Given the description of an element on the screen output the (x, y) to click on. 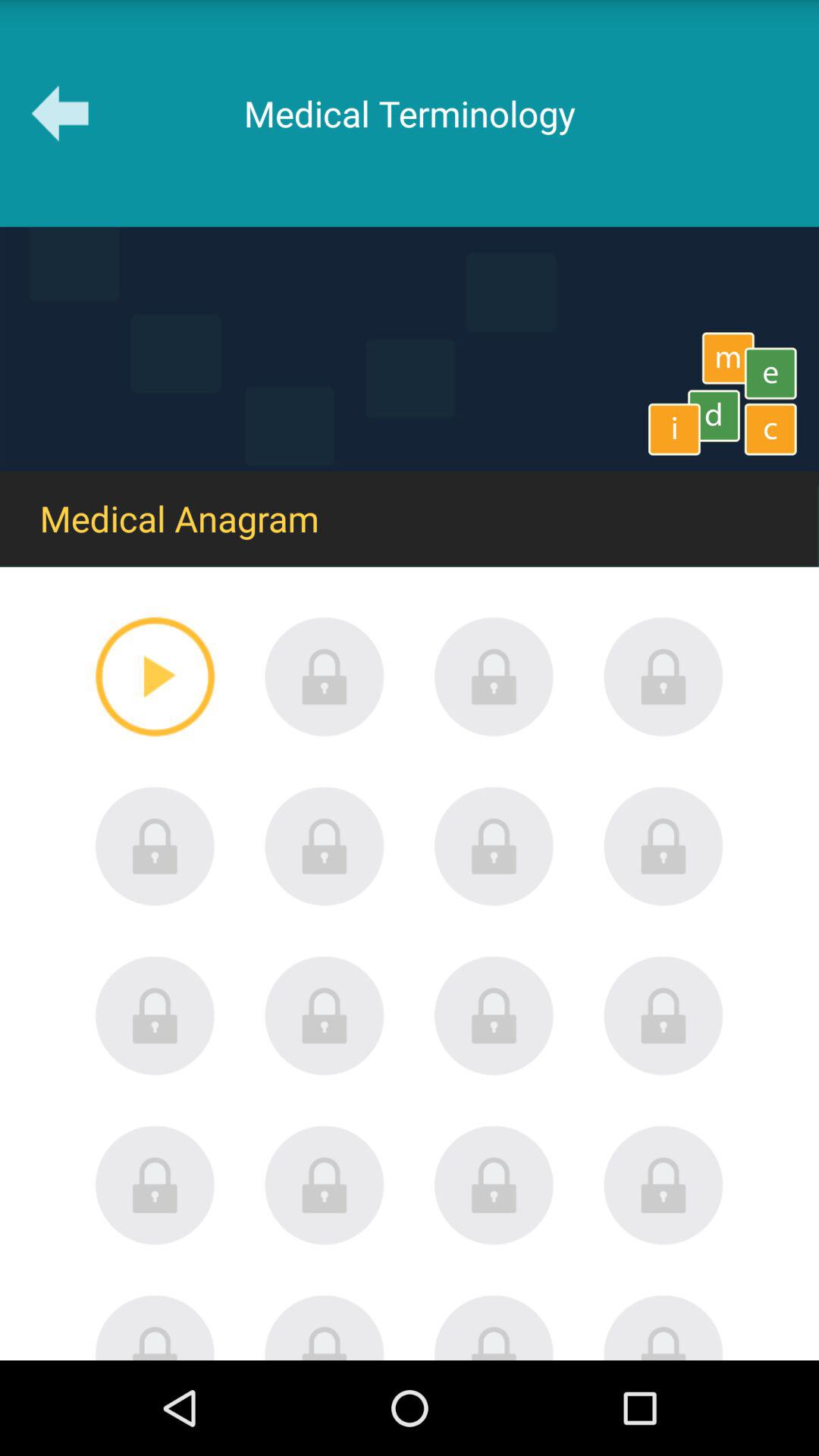
preview locked quiz (493, 1327)
